Given the description of an element on the screen output the (x, y) to click on. 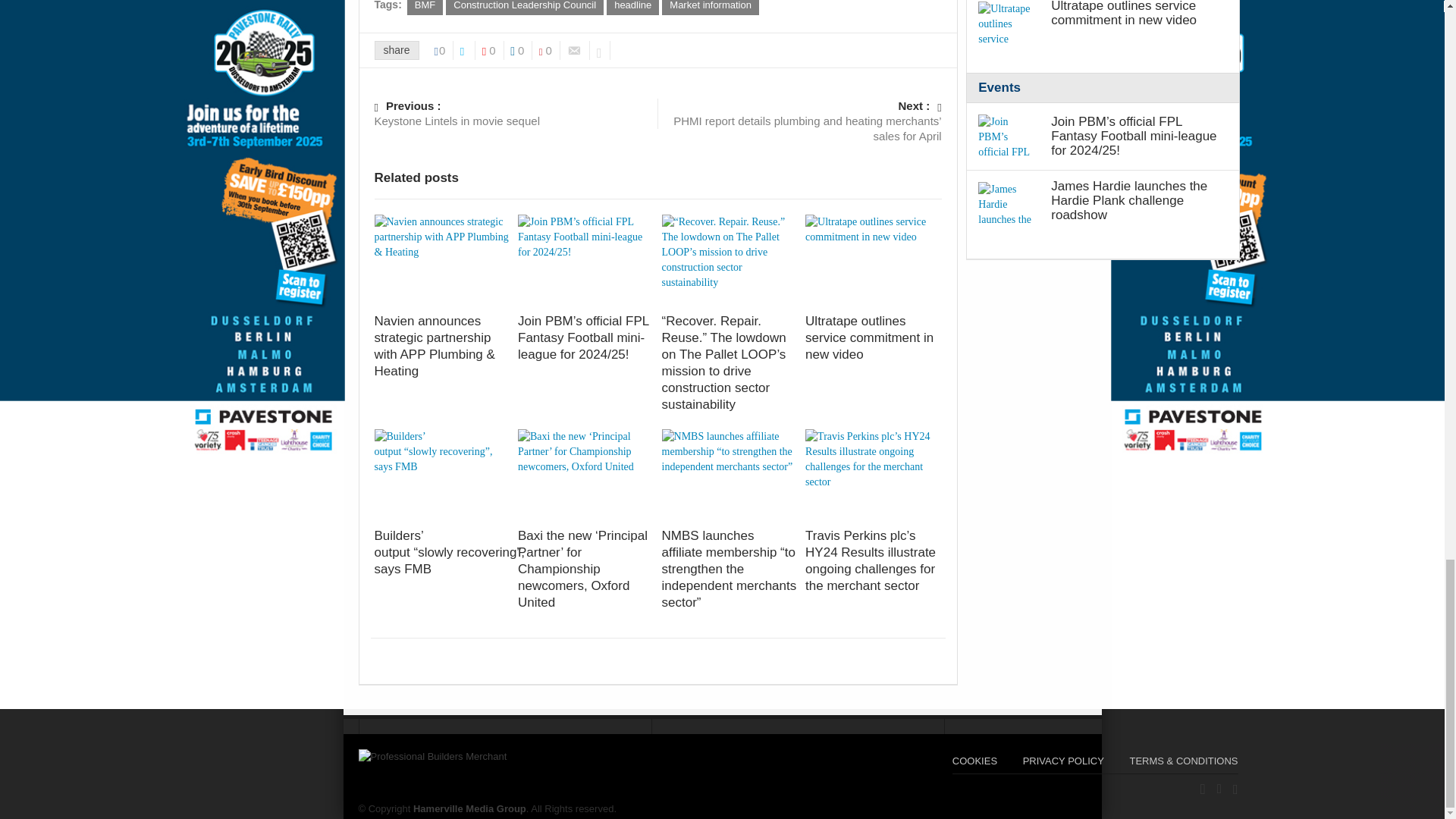
BMF (424, 7)
0 (443, 49)
headline (633, 7)
Market information (710, 7)
Construction Leadership Council (524, 7)
